Given the description of an element on the screen output the (x, y) to click on. 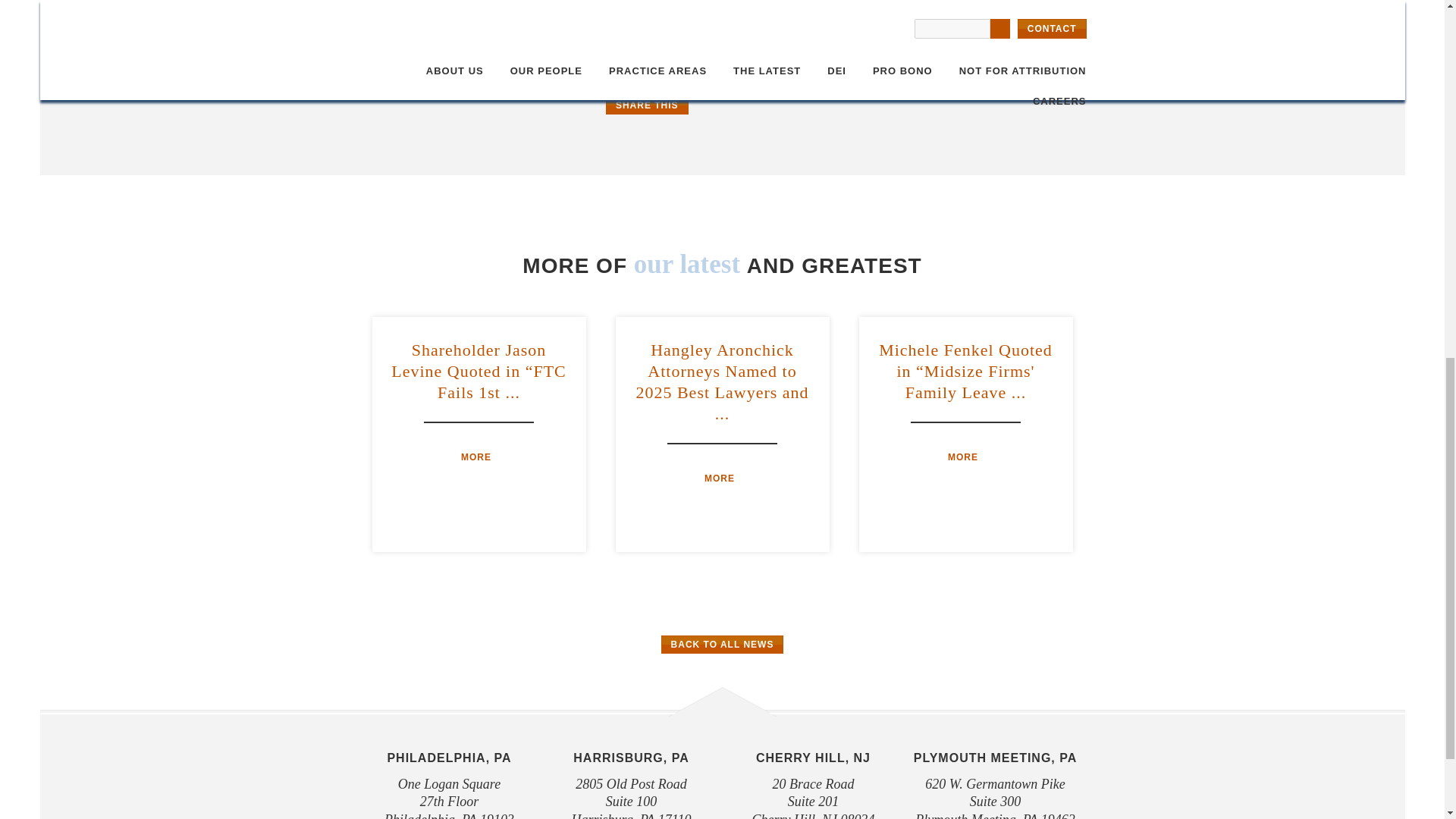
MORE (965, 457)
MORE (721, 478)
BACK TO ALL NEWS (722, 644)
MORE (478, 457)
SHARE THIS (646, 105)
